Given the description of an element on the screen output the (x, y) to click on. 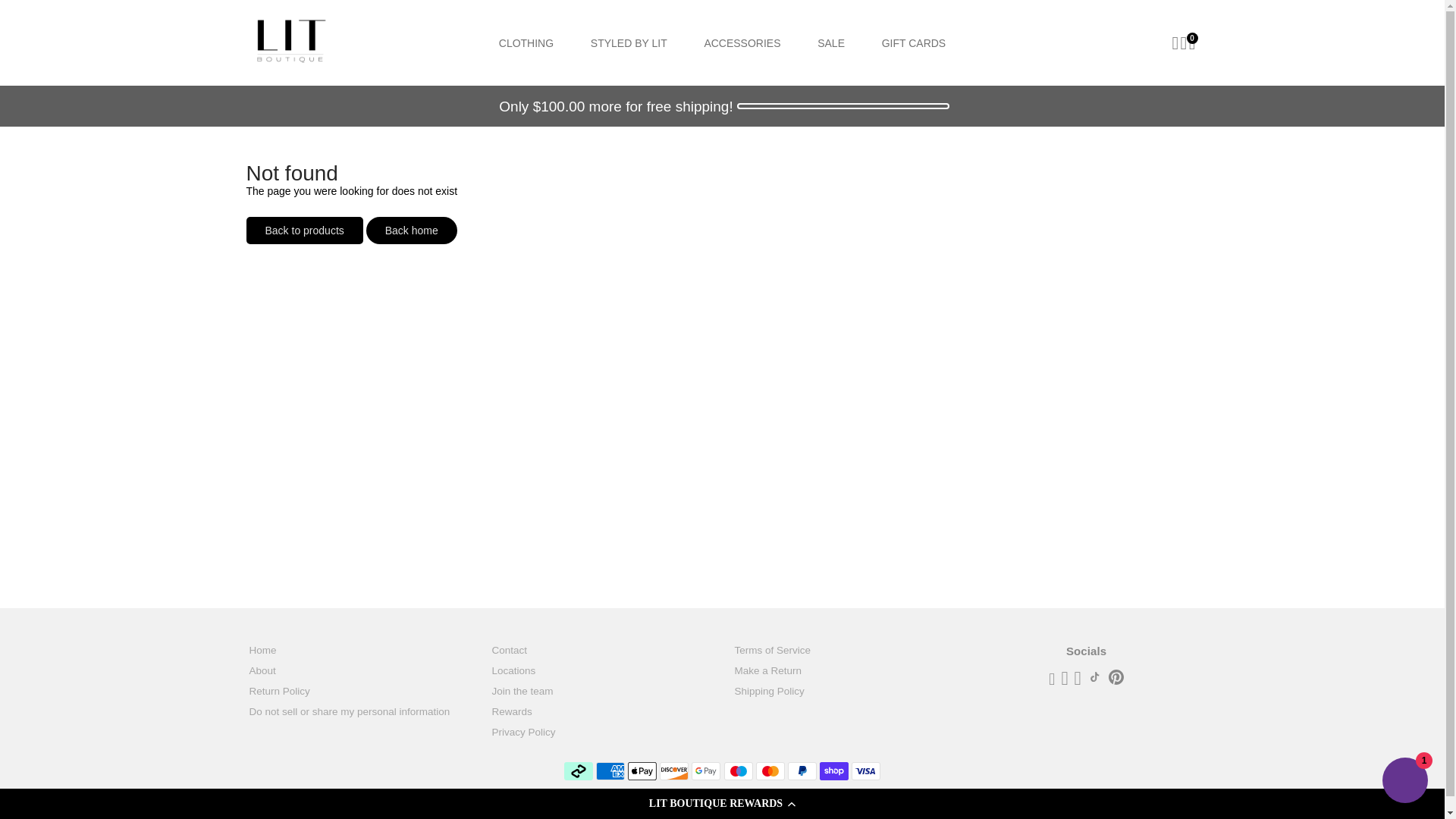
ACCESSORIES (741, 42)
STYLED BY LIT (628, 42)
Mastercard (769, 771)
Google Pay (705, 771)
PayPal (801, 771)
American Express (609, 771)
CLOTHING (526, 42)
Discover (673, 771)
Maestro (737, 771)
Shopify online store chat (1404, 781)
Afterpay (578, 771)
Shop Pay (833, 771)
Apple Pay (641, 771)
Visa (865, 771)
